Given the description of an element on the screen output the (x, y) to click on. 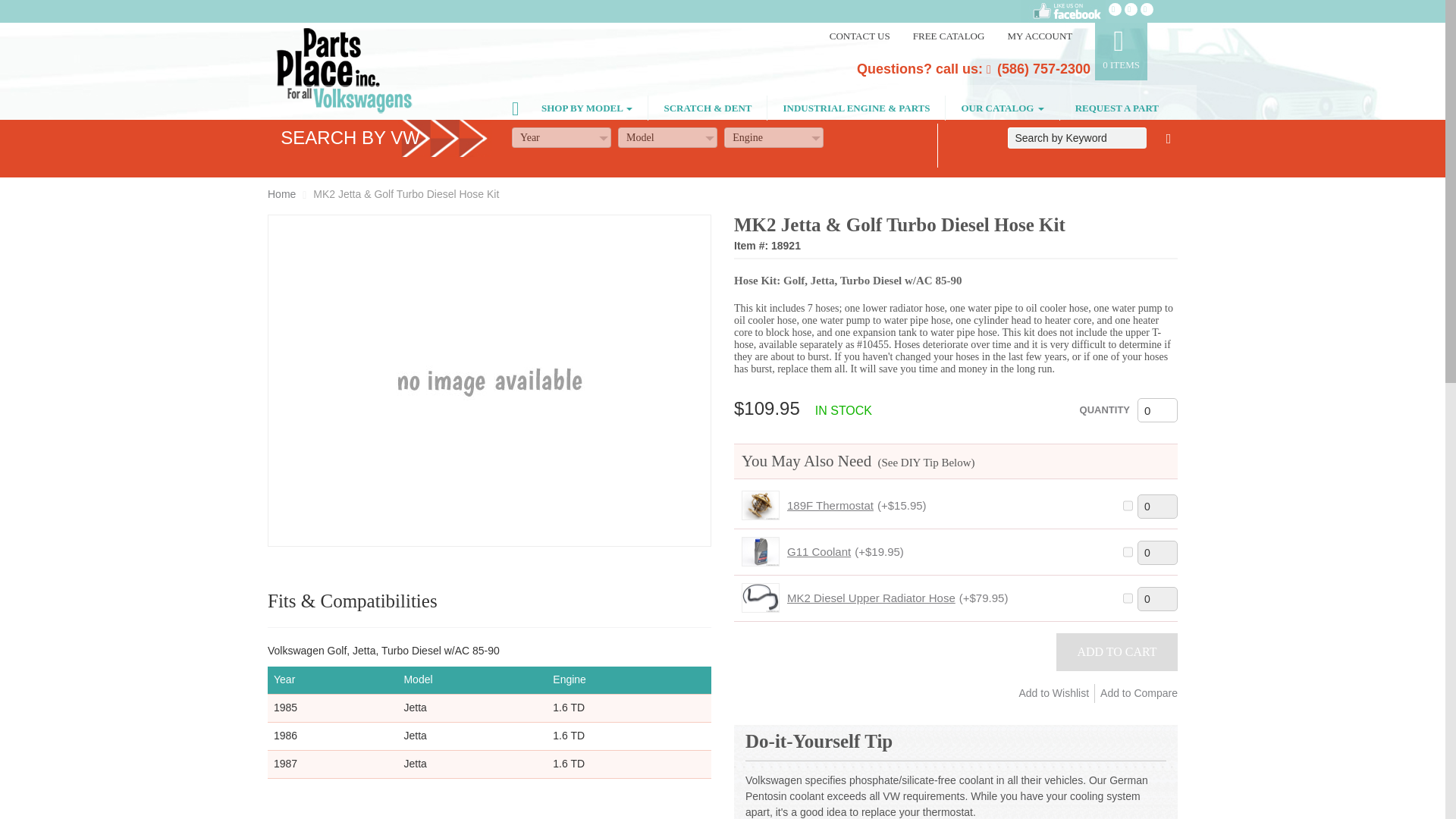
0 (1157, 552)
0 (1157, 506)
0 (1157, 410)
0 (1157, 598)
